Given the description of an element on the screen output the (x, y) to click on. 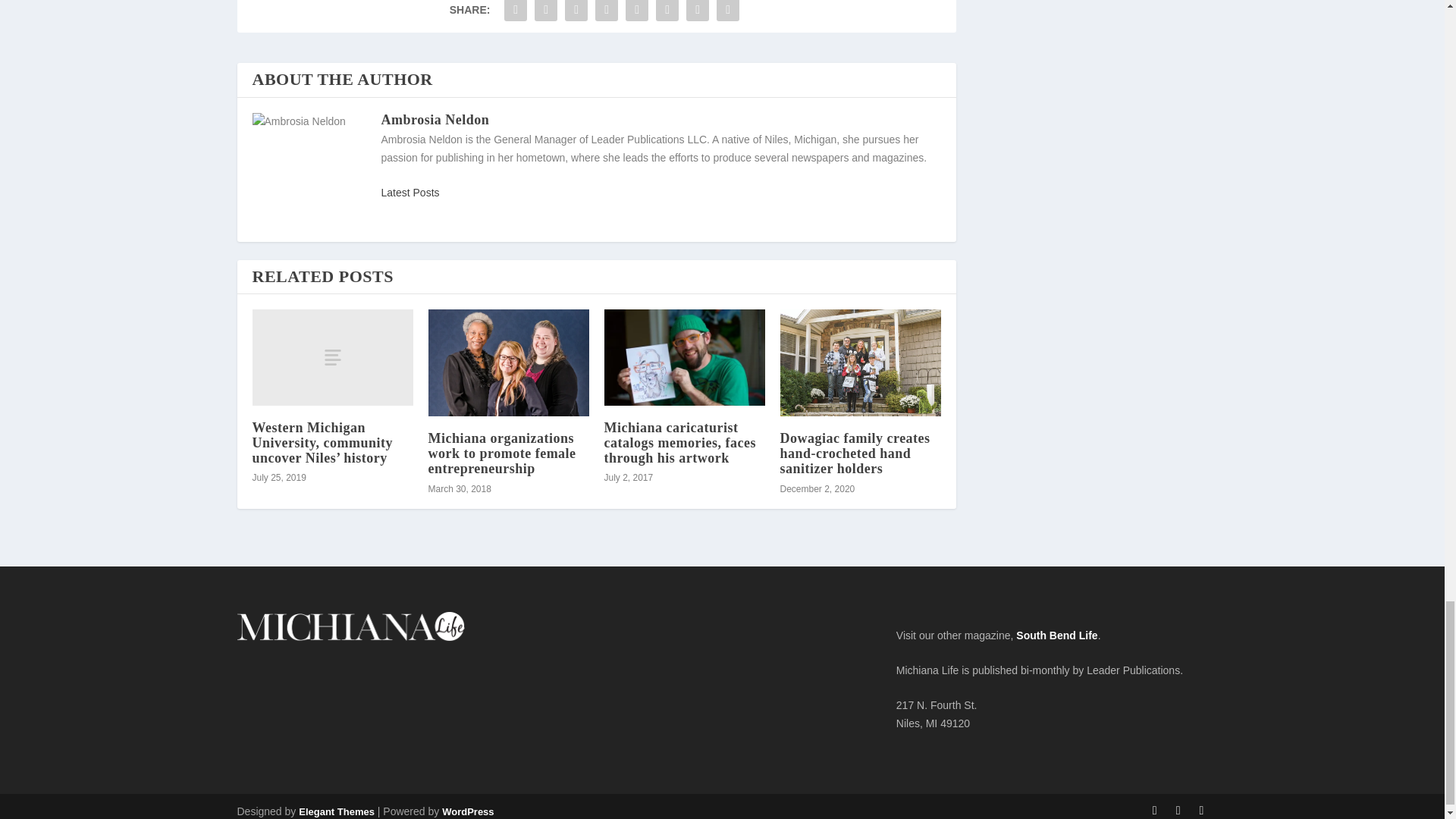
View all posts by Ambrosia Neldon (434, 119)
Ambrosia Neldon (434, 119)
View all posts by Ambrosia Neldon (409, 192)
Latest Posts (409, 192)
